Given the description of an element on the screen output the (x, y) to click on. 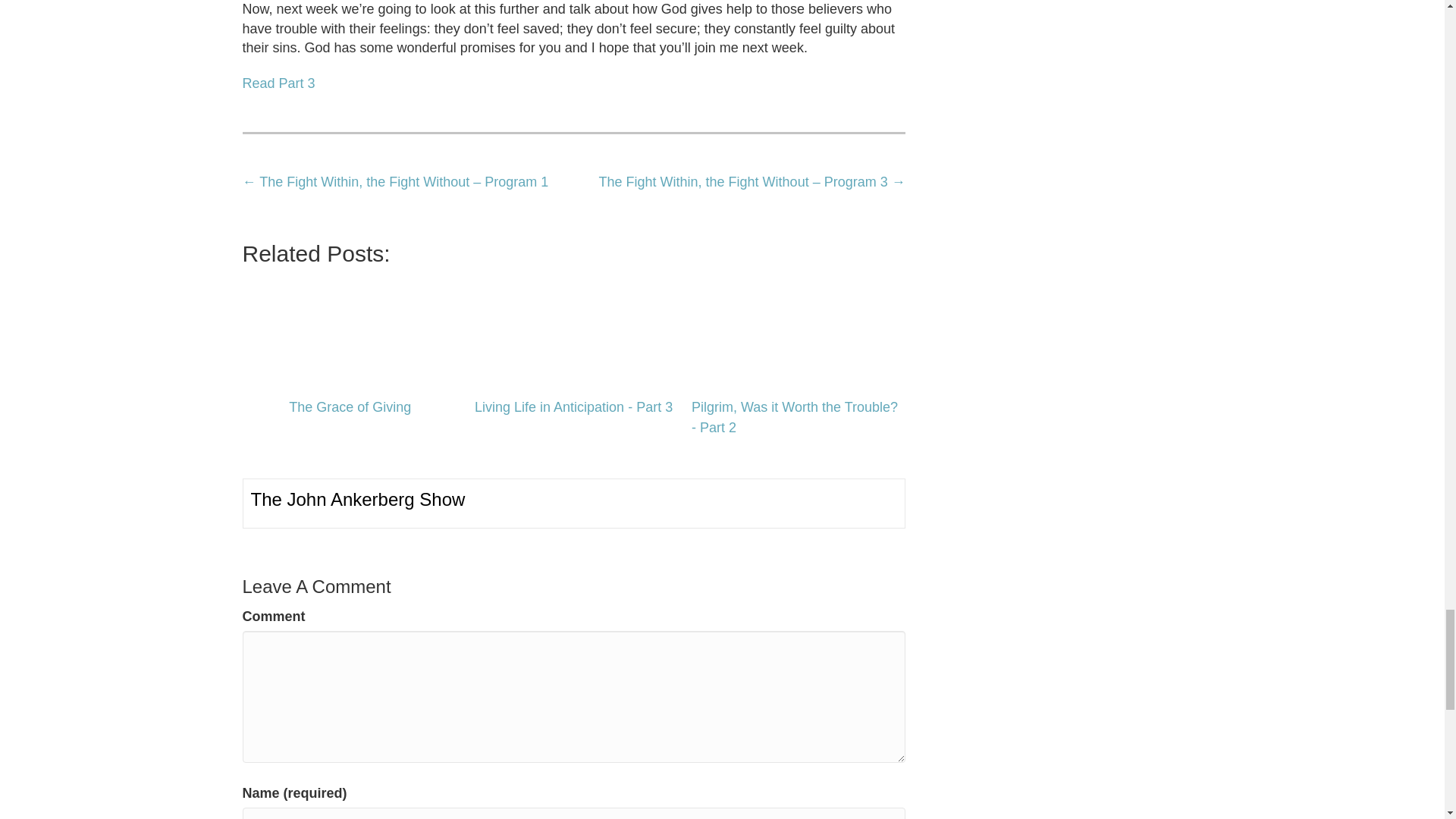
Pilgrim, Was it Worth the Trouble? - Part 2 (796, 331)
Living Life in Anticipation - Part 3 (574, 331)
The Fight Within, the Fight Without - Program 3 (279, 83)
The Grace of Giving (349, 331)
